Given the description of an element on the screen output the (x, y) to click on. 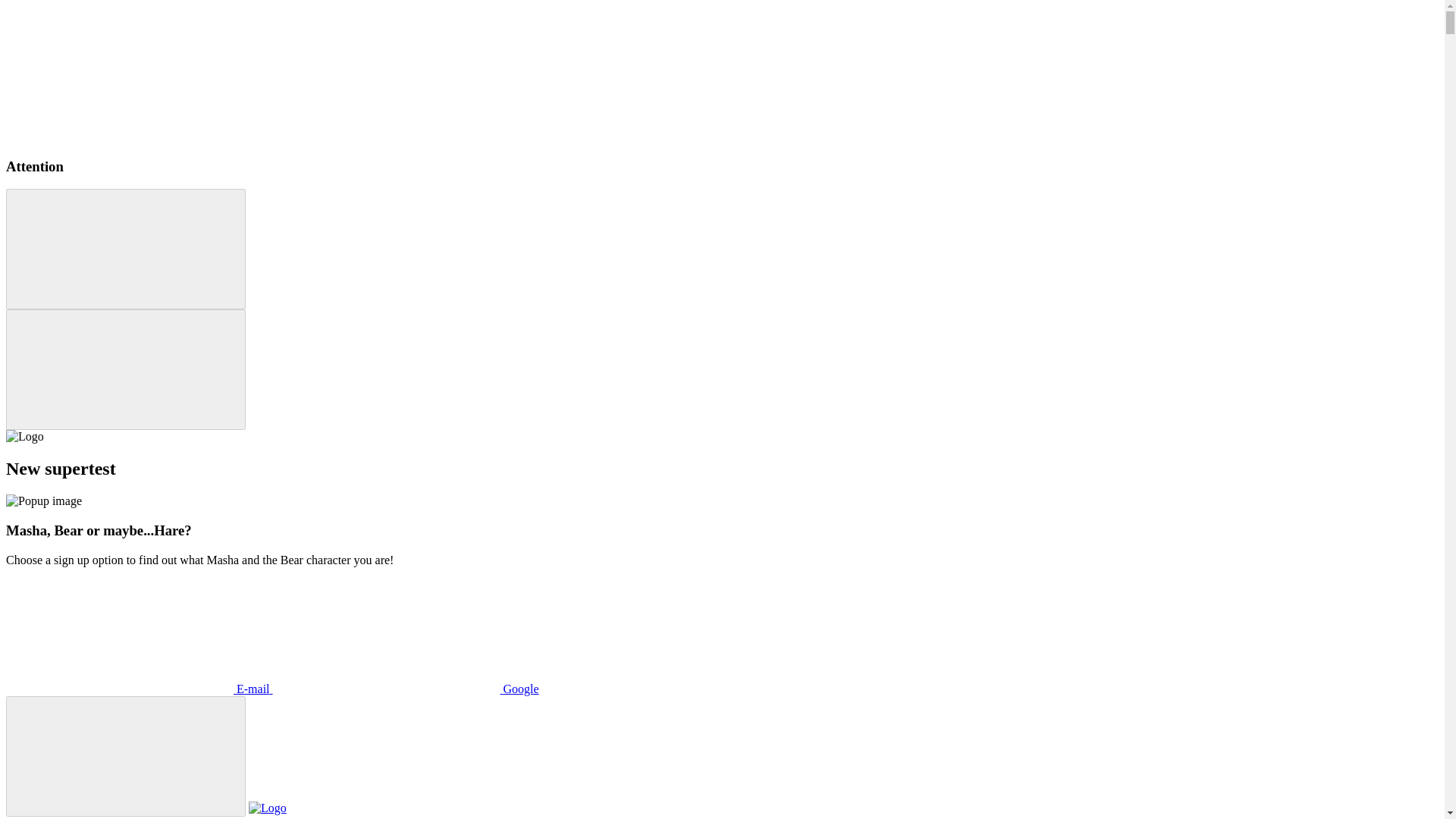
E-mail (139, 688)
Google (405, 688)
